Given the description of an element on the screen output the (x, y) to click on. 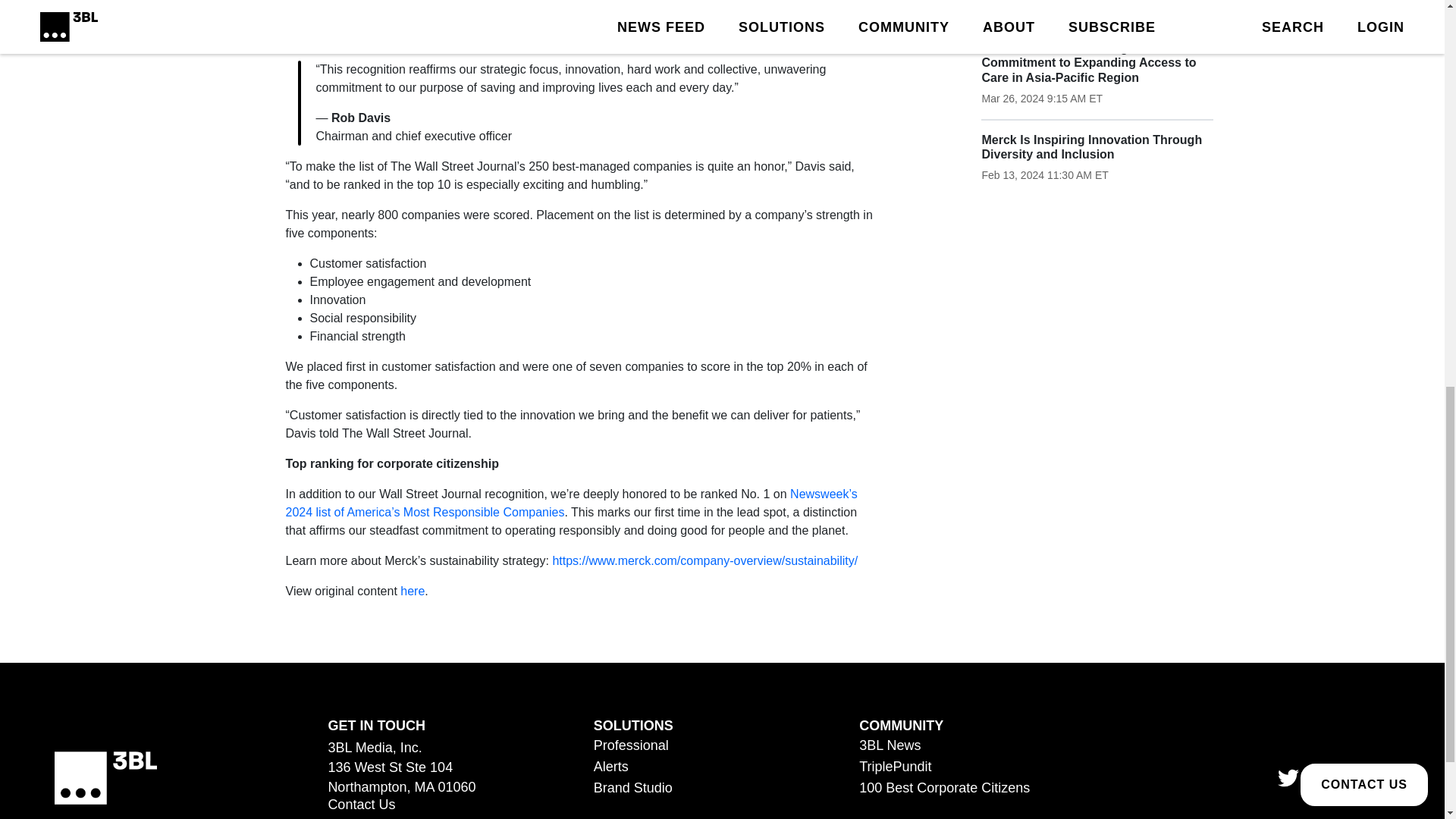
link to 3 B L Media's Facebook (1379, 777)
link to 3 B L Media's Twitter (1288, 777)
link to 3 B L Media's Linkedin (1333, 777)
